Given the description of an element on the screen output the (x, y) to click on. 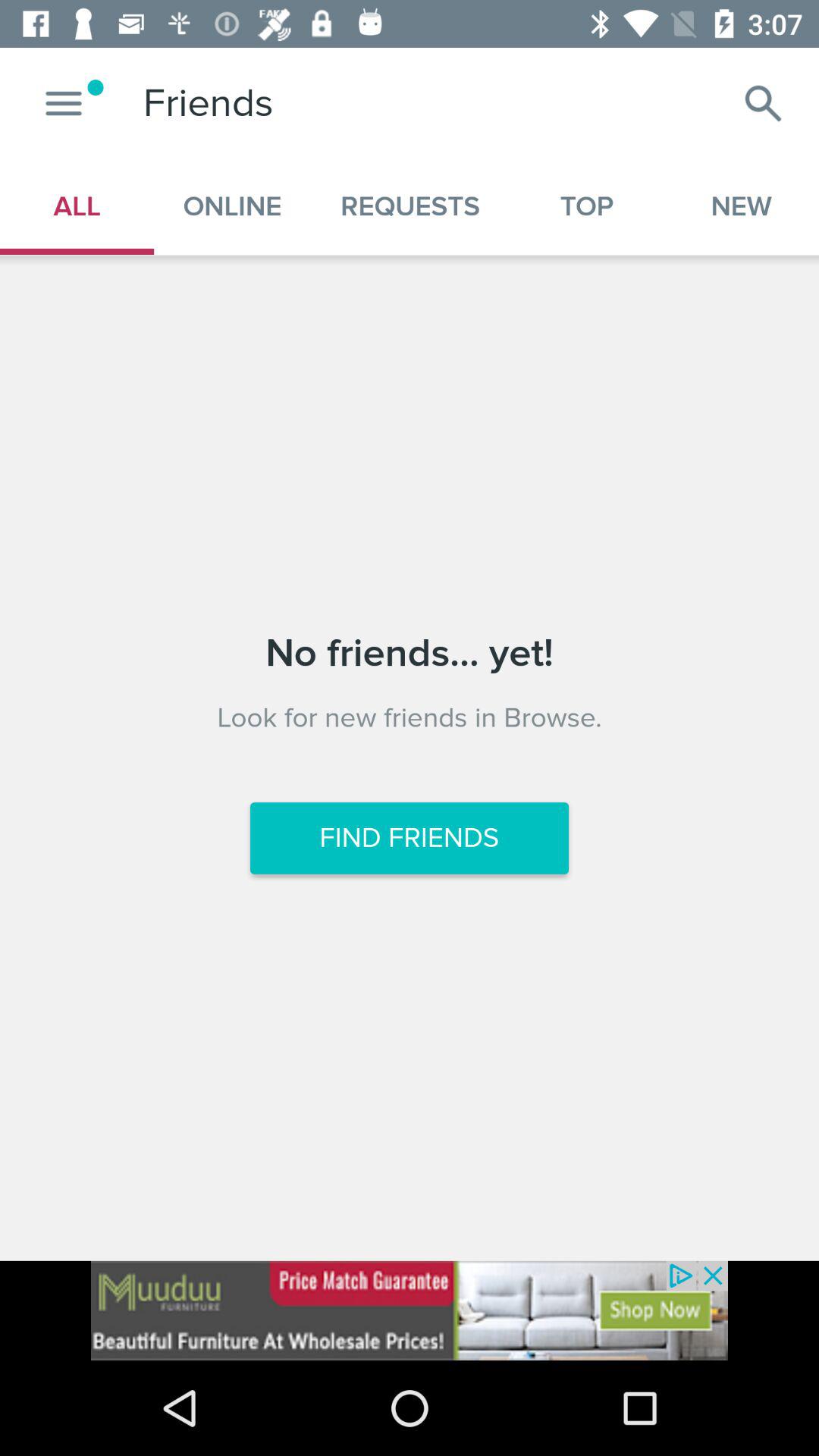
advertisement banner (409, 1310)
